Given the description of an element on the screen output the (x, y) to click on. 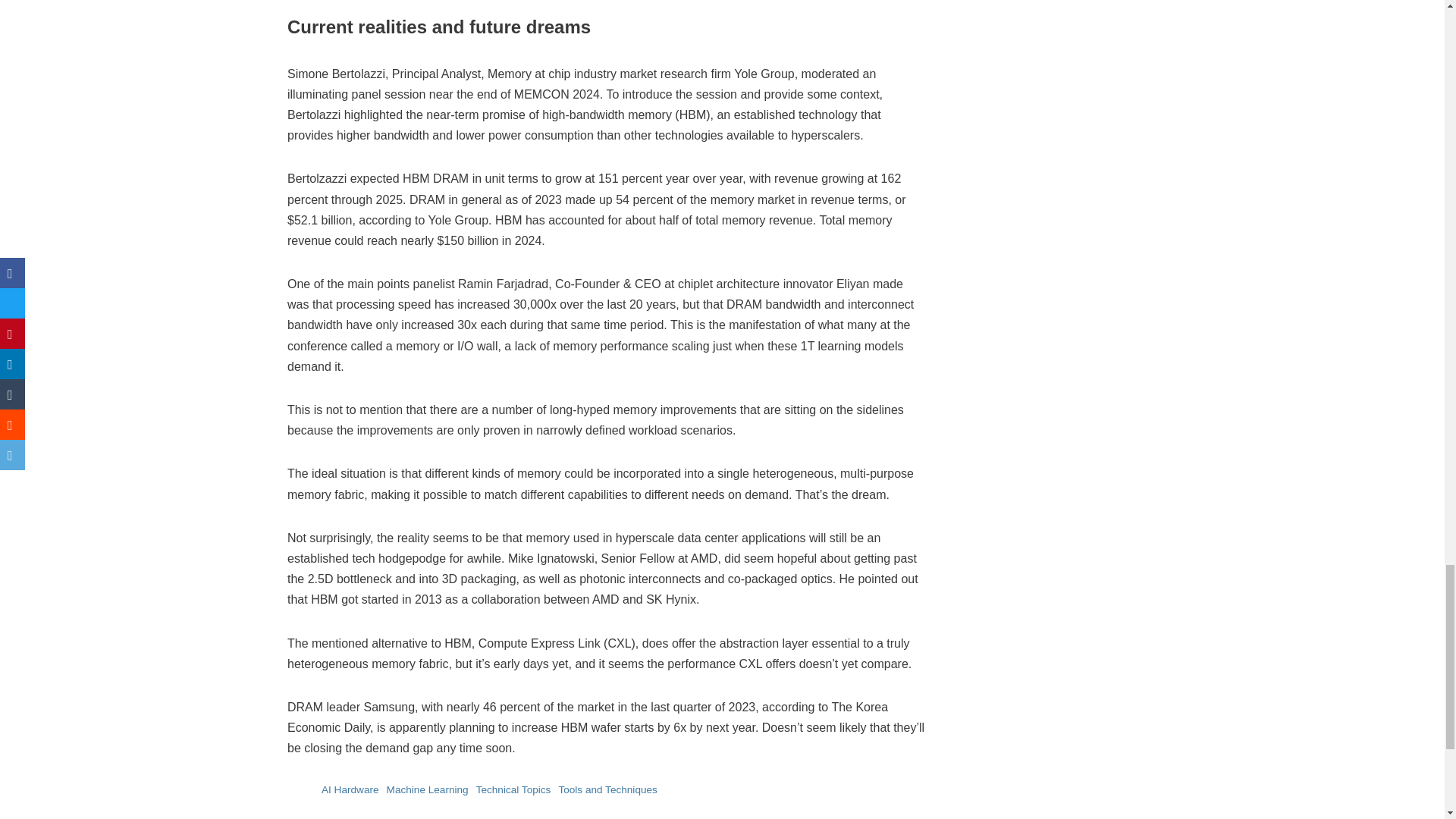
Machine Learning (426, 789)
Tools and Techniques (607, 789)
Technical Topics (512, 789)
AI Hardware (349, 789)
